Given the description of an element on the screen output the (x, y) to click on. 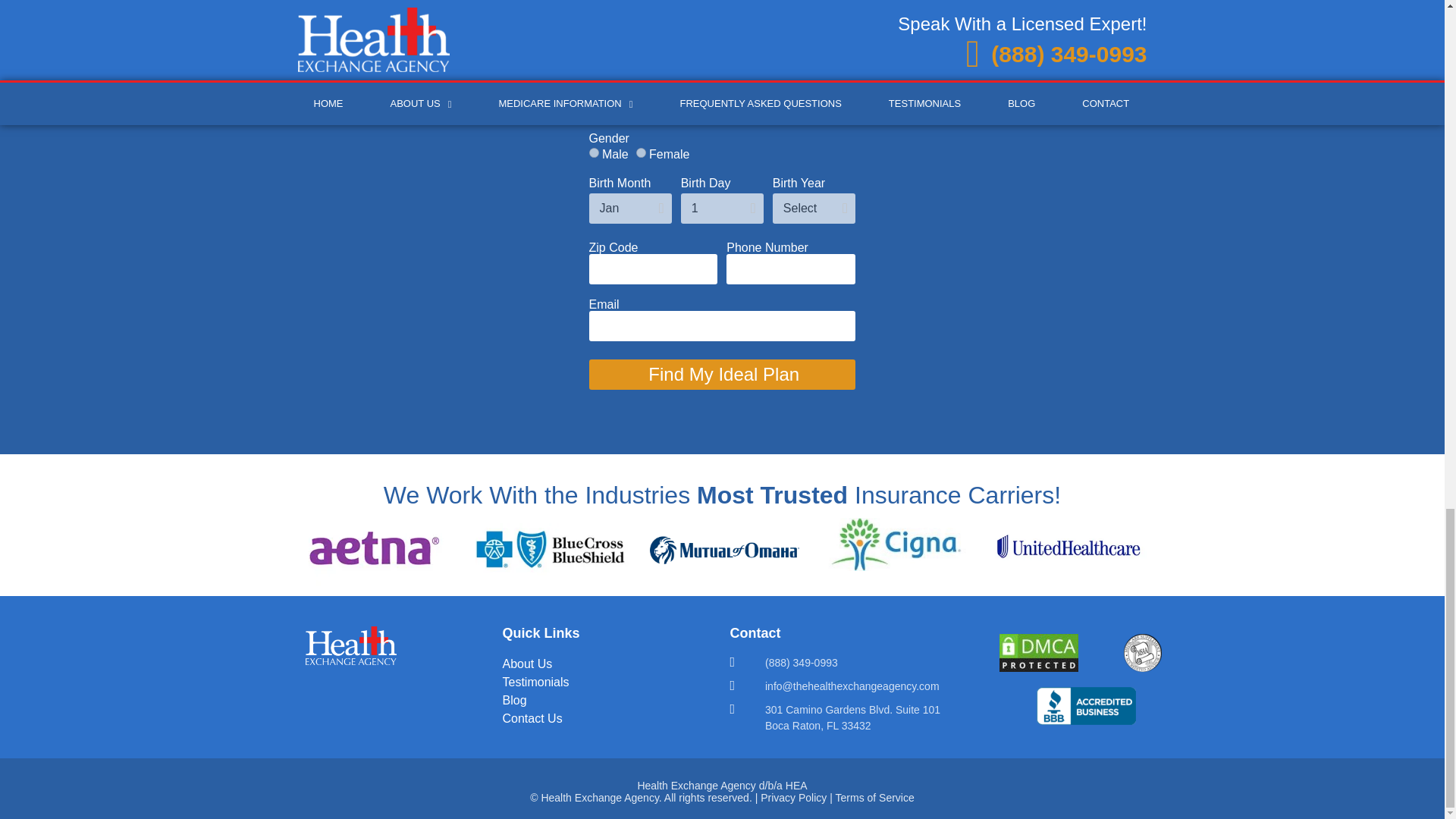
business-three (1085, 705)
business-one (1142, 652)
business-two (1038, 652)
Female (641, 153)
Male (593, 153)
